Given the description of an element on the screen output the (x, y) to click on. 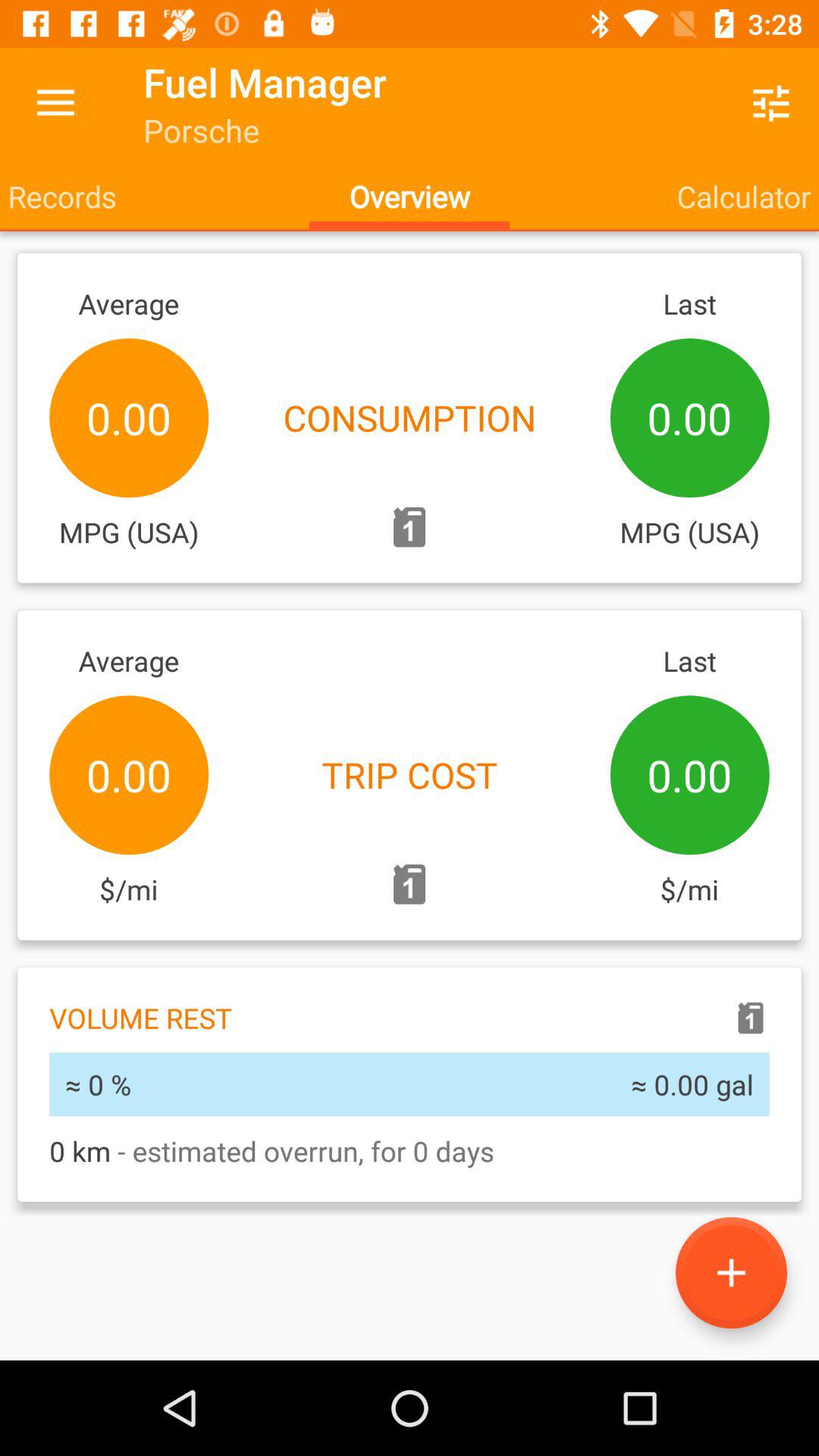
click the item to the left of fuel manager (55, 103)
